Given the description of an element on the screen output the (x, y) to click on. 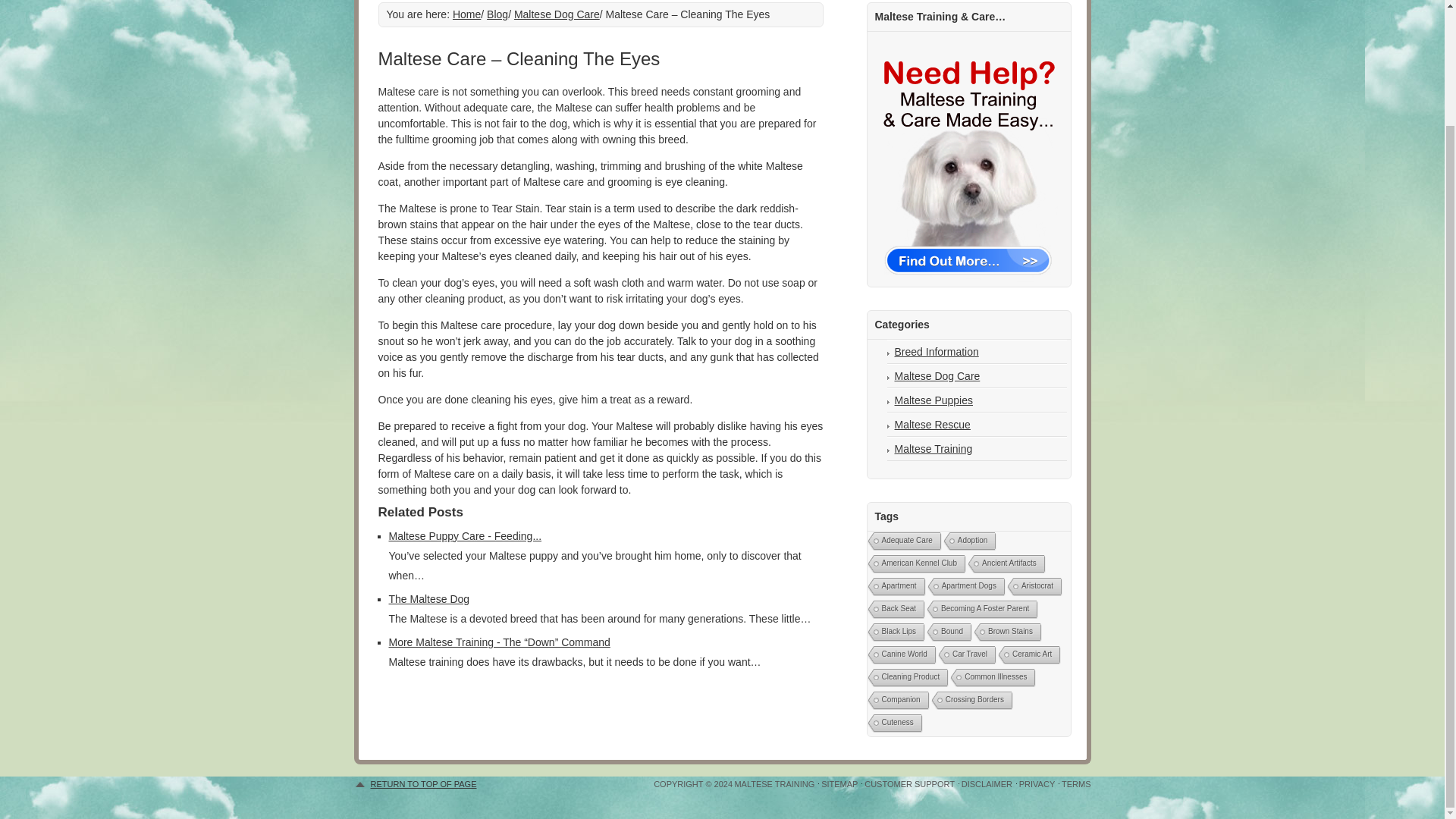
Becoming A Foster Parent (980, 609)
Apartment (895, 587)
Ancient Artifacts (1004, 564)
Maltese Dog Care (937, 376)
Brown Stains (1006, 632)
American Kennel Club (915, 564)
Car Travel (965, 655)
Aristocrat (1033, 587)
Maltese Puppies (934, 399)
Maltese Puppy Care - Feeding... (464, 535)
Maltese Dog Care (556, 14)
Canine World (900, 655)
Home (466, 14)
Cleaning Product (906, 678)
RETURN TO TOP OF PAGE (414, 778)
